Given the description of an element on the screen output the (x, y) to click on. 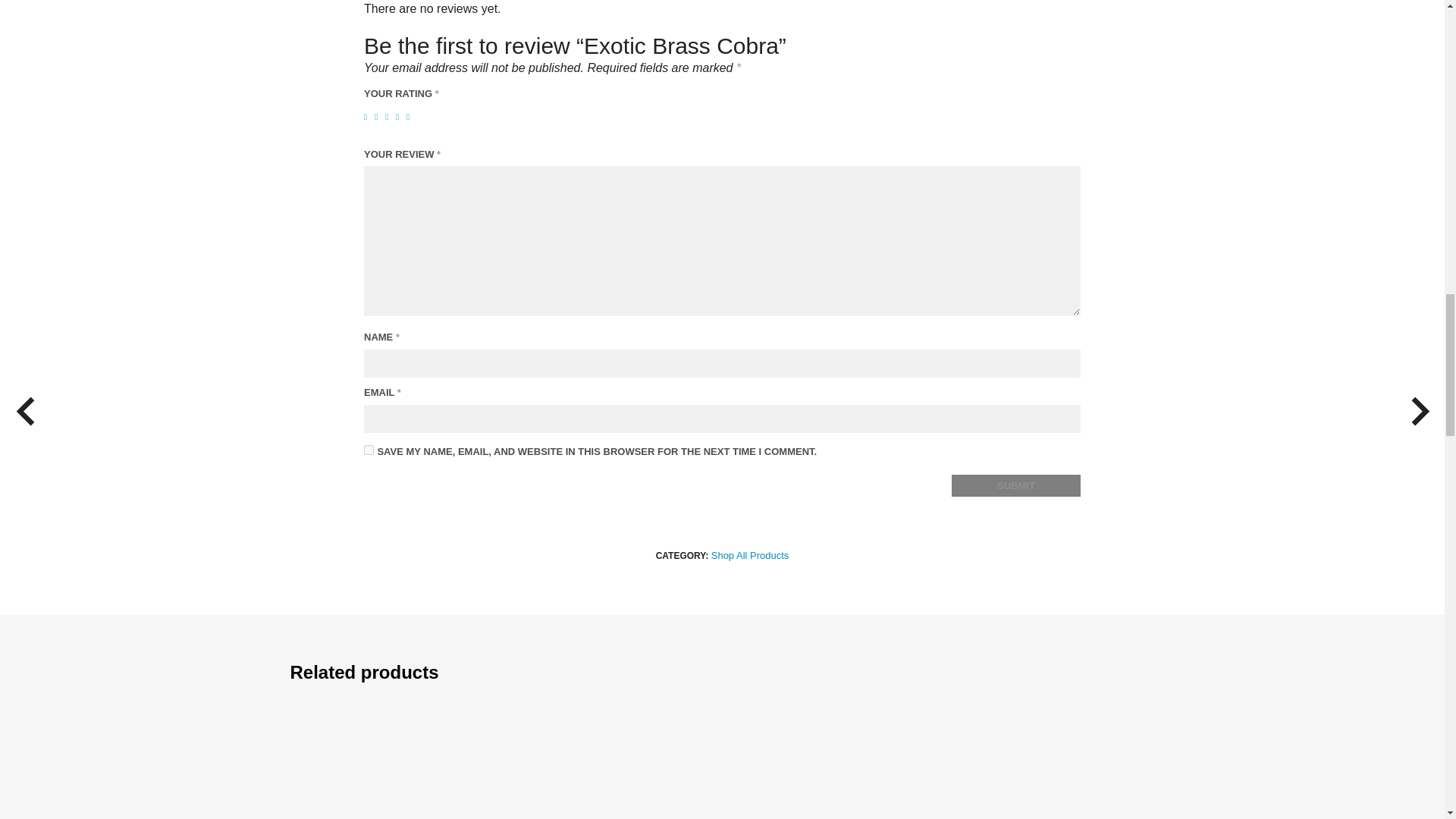
2 (378, 117)
Shop All Products (750, 555)
Submit (1016, 485)
3 (389, 117)
1 (368, 117)
4 (400, 117)
yes (369, 450)
5 (410, 117)
Submit (1016, 485)
